Given the description of an element on the screen output the (x, y) to click on. 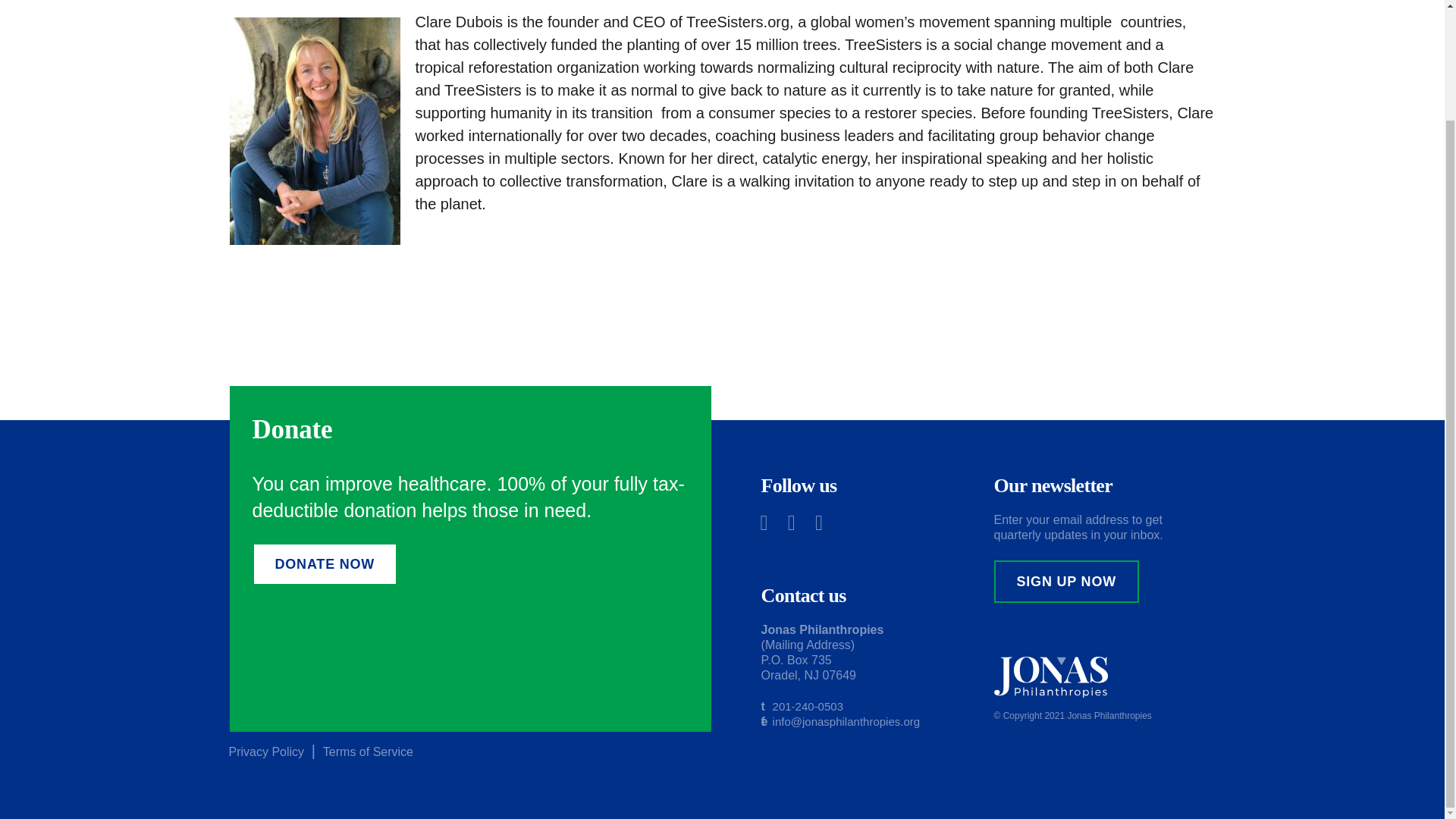
Terms of Service (368, 751)
201-240-0503 (808, 706)
SIGN UP NOW (1066, 581)
Jonas Philanthropies (1109, 715)
Privacy Policy (266, 751)
DONATE NOW (324, 563)
